Given the description of an element on the screen output the (x, y) to click on. 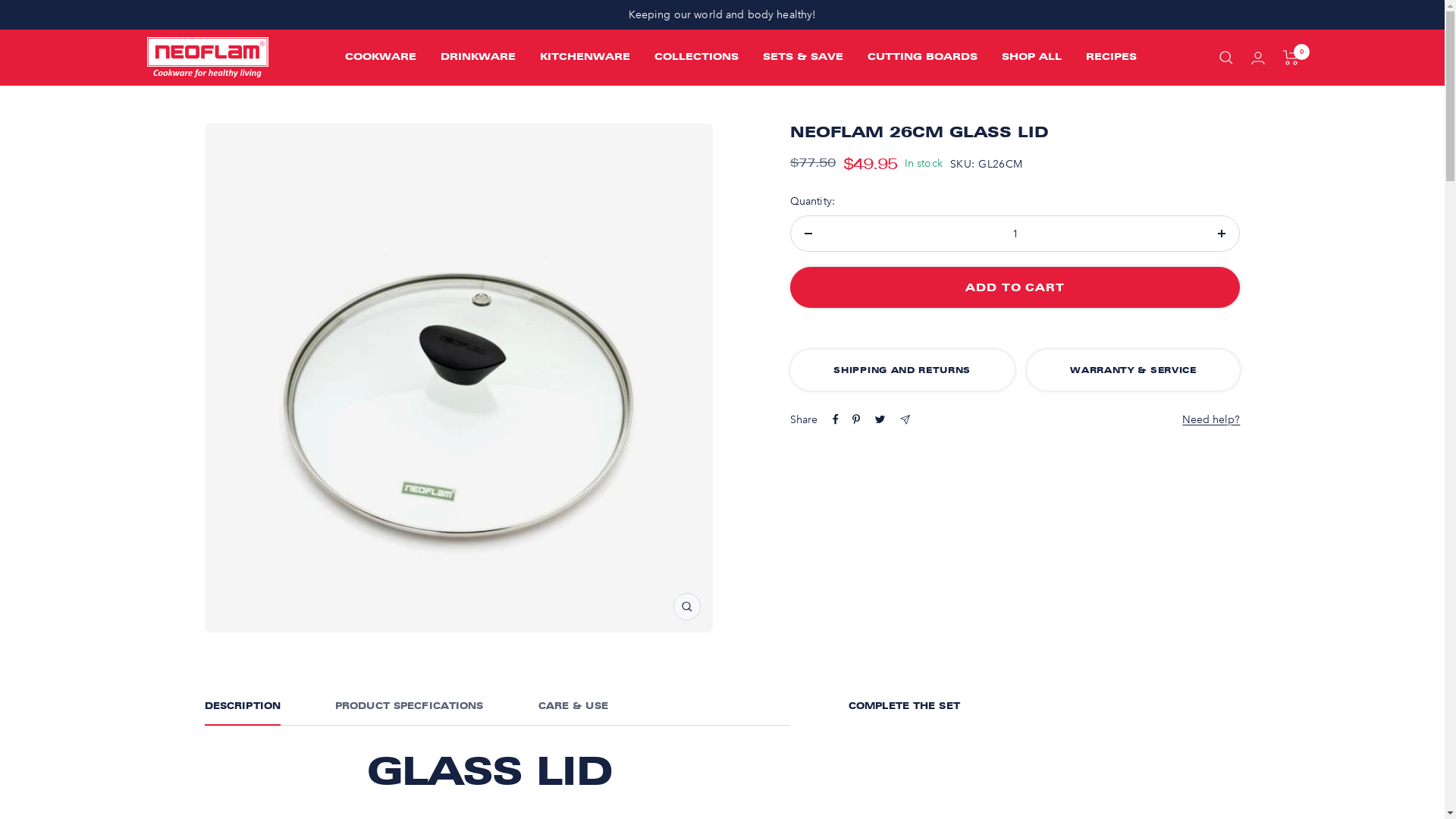
SHOP ALL Element type: text (1030, 57)
KITCHENWARE Element type: text (584, 57)
0 Element type: text (1291, 57)
CARE & USE Element type: text (573, 712)
ADD TO CART Element type: text (1015, 286)
COLLECTIONS Element type: text (695, 57)
WARRANTY & SERVICE Element type: text (1133, 369)
COOKWARE Element type: text (379, 57)
DRINKWARE Element type: text (476, 57)
Zoom Element type: text (686, 606)
RECIPES Element type: text (1110, 57)
CUTTING BOARDS Element type: text (922, 57)
NeoflamCookware Element type: text (206, 57)
Decrease quantity Element type: text (807, 233)
Need help? Element type: text (1210, 419)
SETS & SAVE Element type: text (802, 57)
Increase quantity Element type: text (1221, 233)
DESCRIPTION Element type: text (242, 712)
PRODUCT SPECFICATIONS Element type: text (409, 712)
SHIPPING AND RETURNS Element type: text (902, 369)
